Given the description of an element on the screen output the (x, y) to click on. 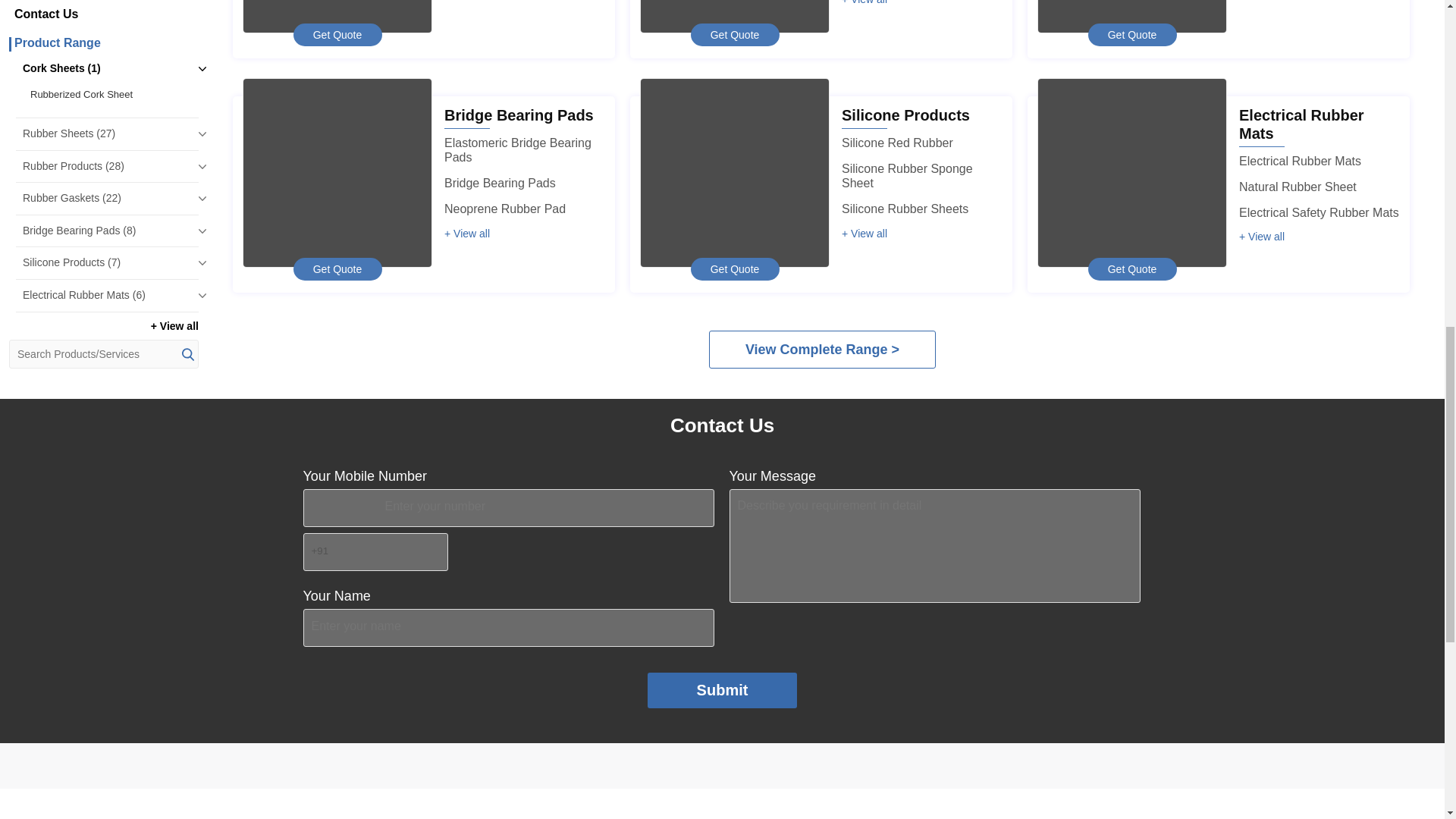
Submit (722, 690)
